Given the description of an element on the screen output the (x, y) to click on. 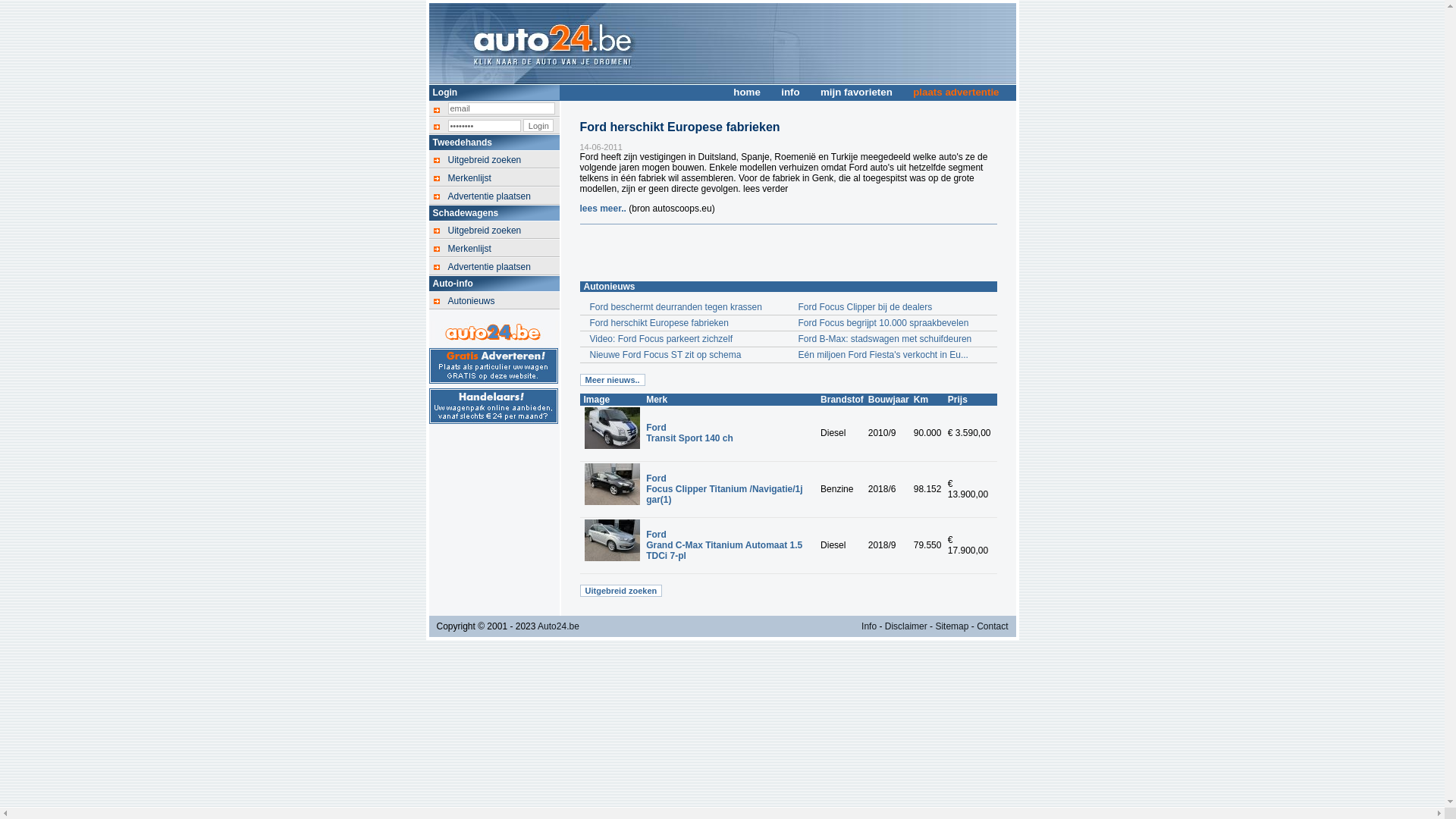
info Element type: text (789, 91)
Ford
Transit Sport 140 ch Element type: text (689, 432)
Gratis auto advertentie voor particulieren Element type: hover (493, 365)
Video: Ford Focus parkeert zichzelf Element type: text (683, 338)
Voordelige auto advertenties voor dealers Element type: hover (493, 405)
Ford
Grand C-Max Titanium Automaat 1.5 TDCi 7-pl Element type: text (724, 545)
Meer nieuws.. Element type: text (611, 379)
Ford
Focus Clipper Titanium /Navigatie/1j gar(1) Element type: text (724, 489)
Auto24.be Element type: text (558, 626)
Uitgebreid zoeken Element type: text (502, 230)
Ford Focus begrijpt 10.000 spraakbevelen Element type: text (892, 322)
Ford Focus Clipper bij de dealers Element type: text (892, 306)
Advertisement Element type: hover (756, 250)
Ford B-Max: stadswagen met schuifdeuren Element type: text (892, 338)
home Element type: text (746, 91)
mijn favorieten Element type: text (856, 91)
Ford beschermt deurranden tegen krassen Element type: text (683, 306)
Uitgebreid zoeken Element type: text (502, 159)
Ford herschikt Europese fabrieken Element type: text (683, 322)
Info Element type: text (868, 626)
Contact Element type: text (991, 626)
Uitgebreid zoeken Element type: text (620, 590)
Autonieuws Element type: text (502, 300)
Login Element type: text (538, 125)
Merkenlijst Element type: text (502, 177)
Nieuwe Ford Focus ST zit op schema Element type: text (683, 354)
Merkenlijst Element type: text (502, 248)
Sitemap Element type: text (951, 626)
lees meer.. Element type: text (603, 208)
Disclaimer Element type: text (905, 626)
Advertentie plaatsen Element type: text (502, 266)
Advertentie plaatsen Element type: text (502, 196)
plaats advertentie Element type: text (955, 91)
